Given the description of an element on the screen output the (x, y) to click on. 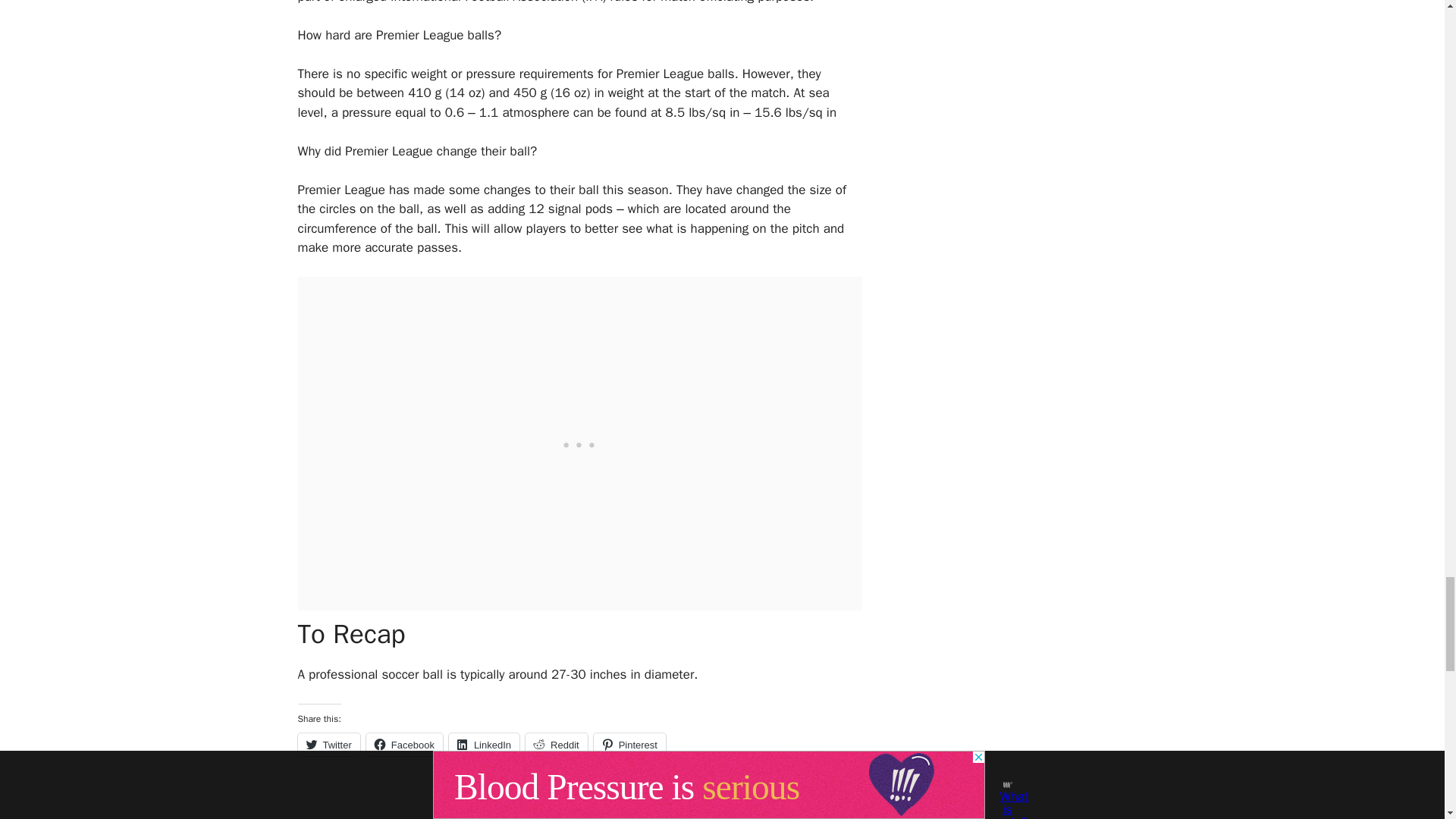
Click to share on Facebook (404, 744)
Click to share on Twitter (328, 744)
Click to share on Reddit (556, 744)
Click to share on Pinterest (629, 744)
Facebook (404, 744)
Pinterest (629, 744)
Twitter (328, 744)
LinkedIn (483, 744)
Click to share on LinkedIn (483, 744)
Reddit (556, 744)
